Given the description of an element on the screen output the (x, y) to click on. 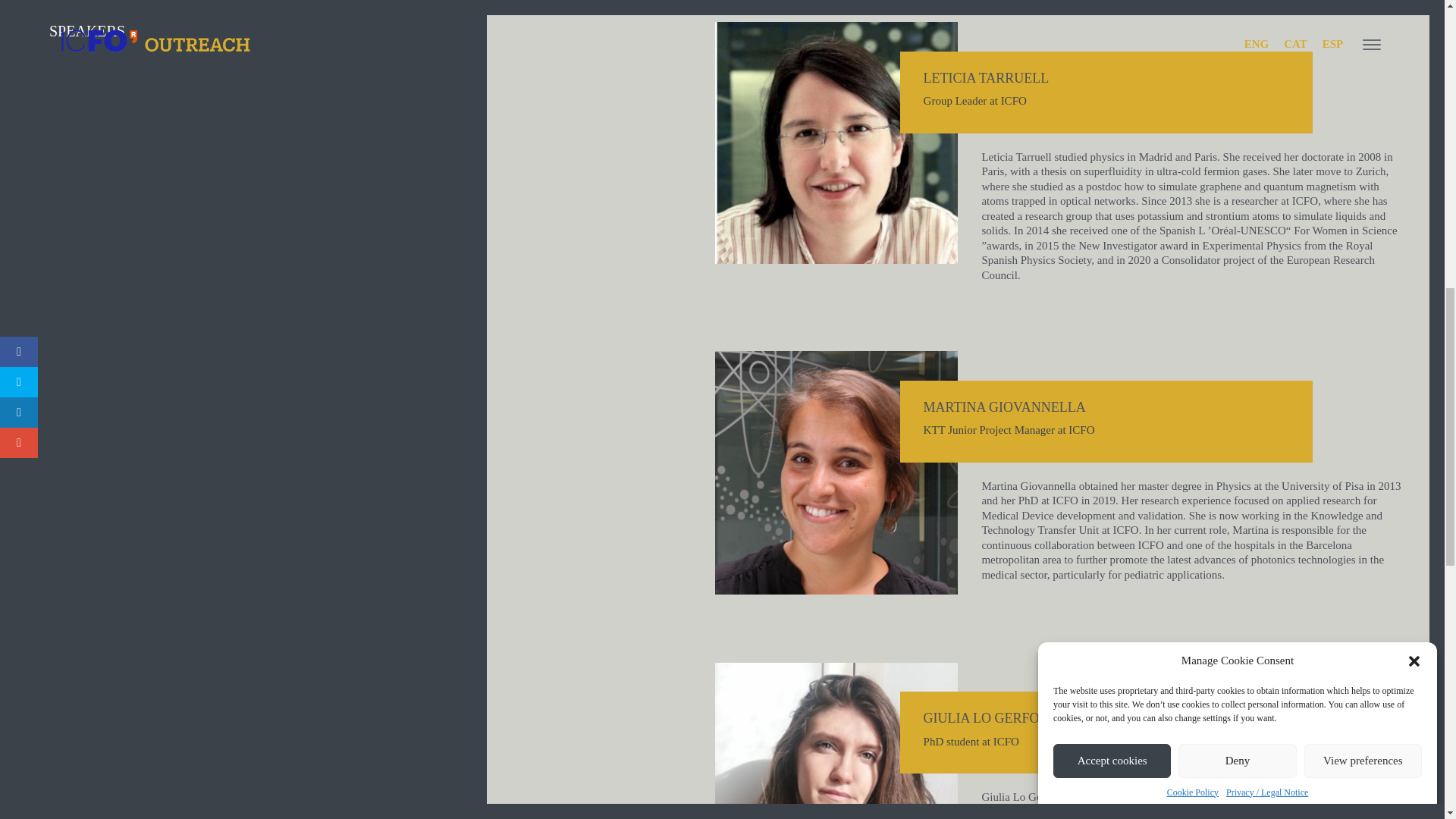
Leticia (836, 142)
Martina (836, 472)
Giulia (836, 740)
